Given the description of an element on the screen output the (x, y) to click on. 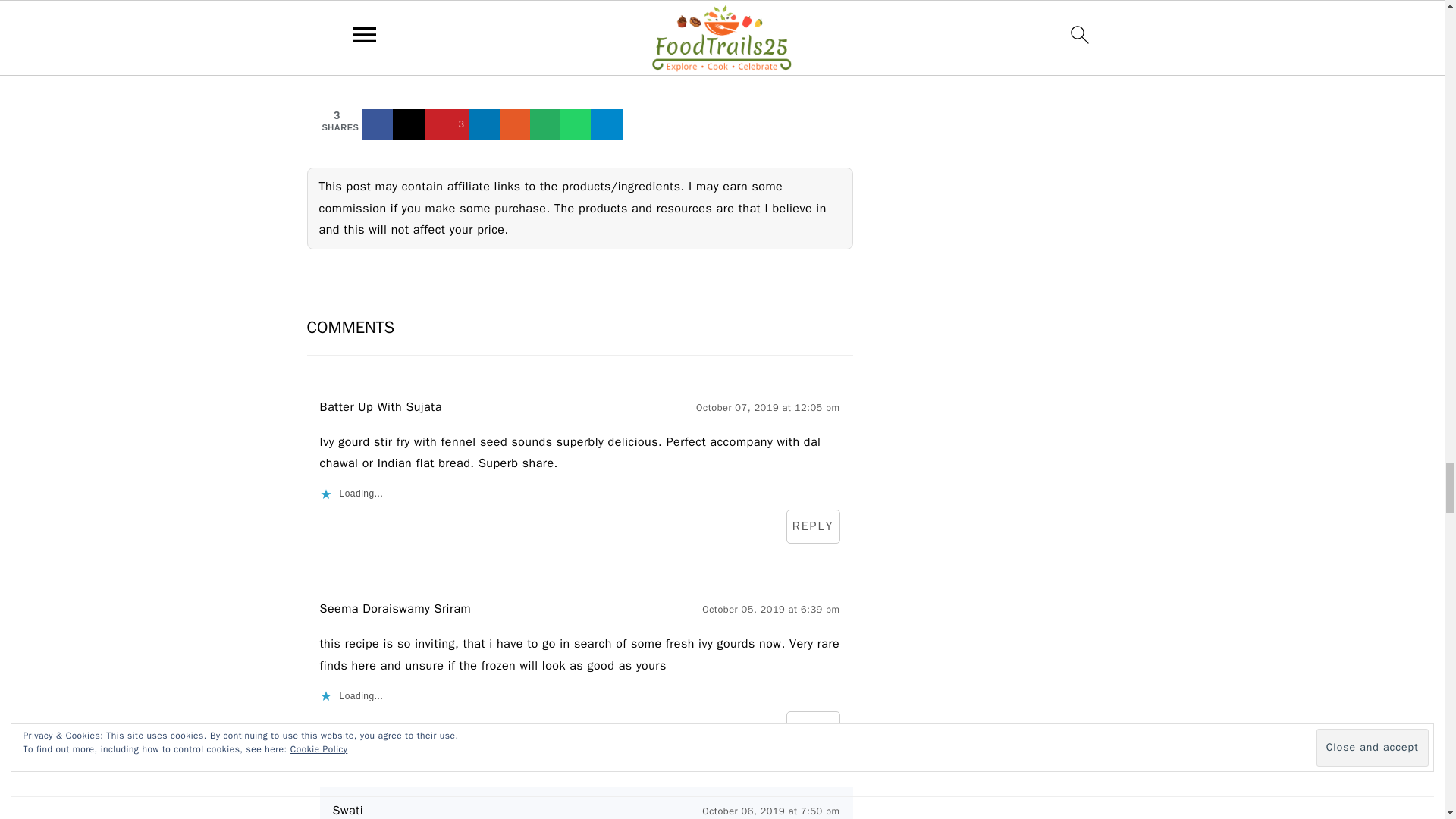
Save to Pinterest (448, 123)
Share on Facebook (379, 123)
Share on X (409, 123)
Share on LinkedIn (485, 123)
